Given the description of an element on the screen output the (x, y) to click on. 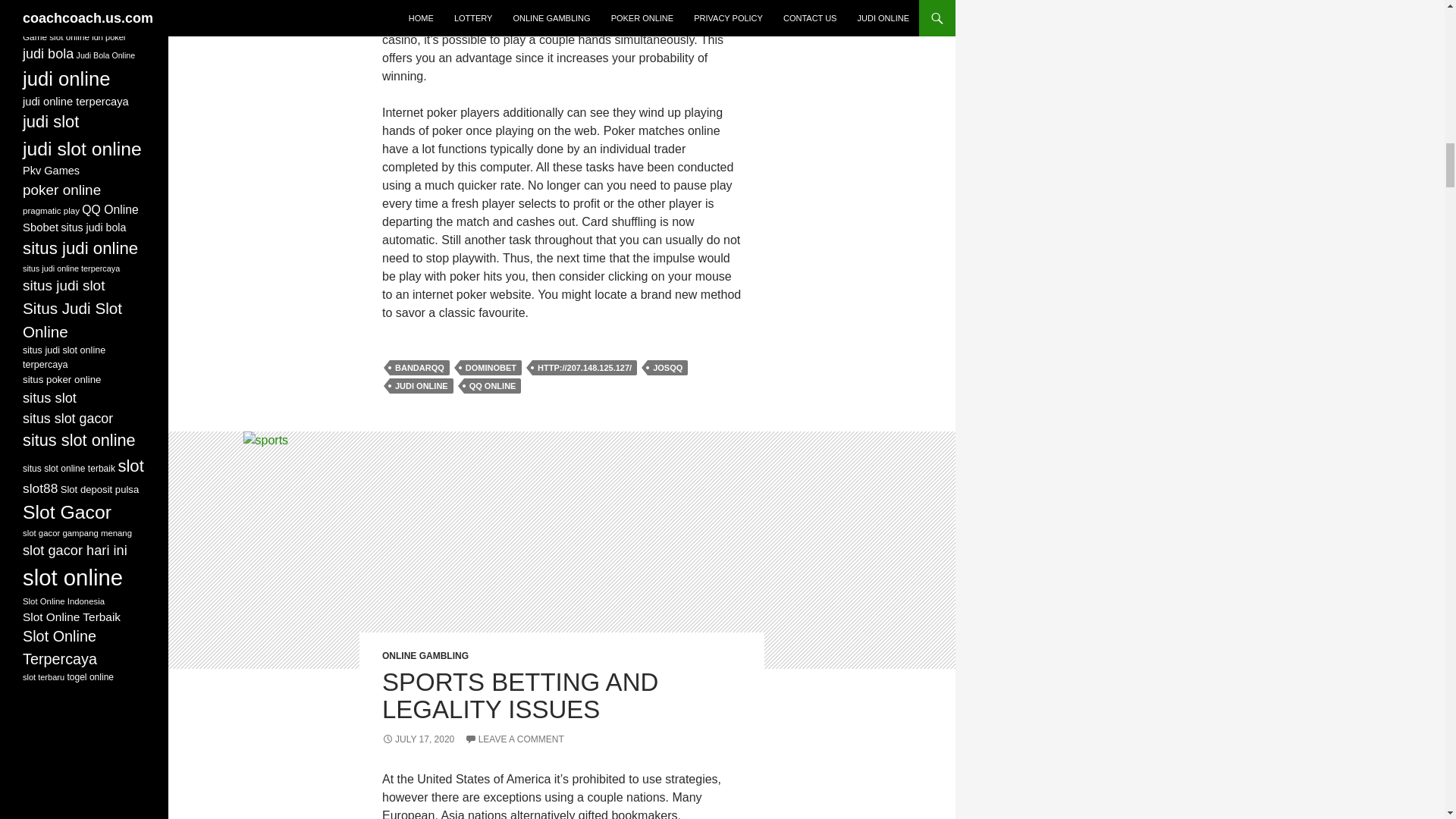
QQ ONLINE (492, 385)
JOSQQ (667, 367)
ONLINE GAMBLING (424, 655)
DOMINOBET (490, 367)
BANDARQQ (419, 367)
JUDI ONLINE (421, 385)
JULY 17, 2020 (417, 738)
SPORTS BETTING AND LEGALITY ISSUES (519, 695)
